Given the description of an element on the screen output the (x, y) to click on. 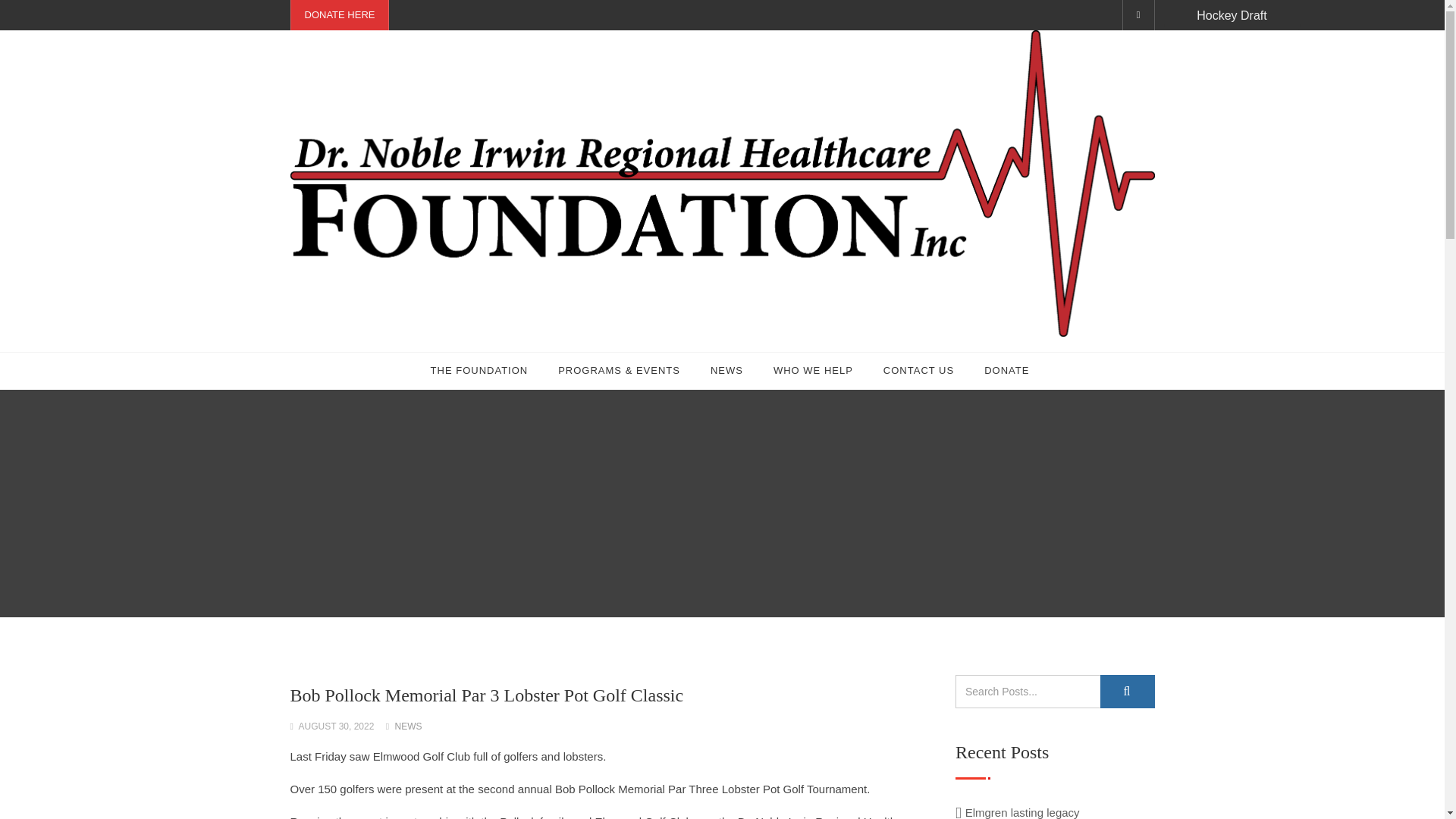
DONATE HERE (340, 15)
Hockey Draft (1231, 15)
NEWS (408, 726)
THE FOUNDATION (479, 370)
CONTACT US (918, 370)
Bob Pollock Memorial Par 3 Lobster Pot Golf Classic (485, 695)
DONATE (1006, 370)
WHO WE HELP (813, 370)
